Given the description of an element on the screen output the (x, y) to click on. 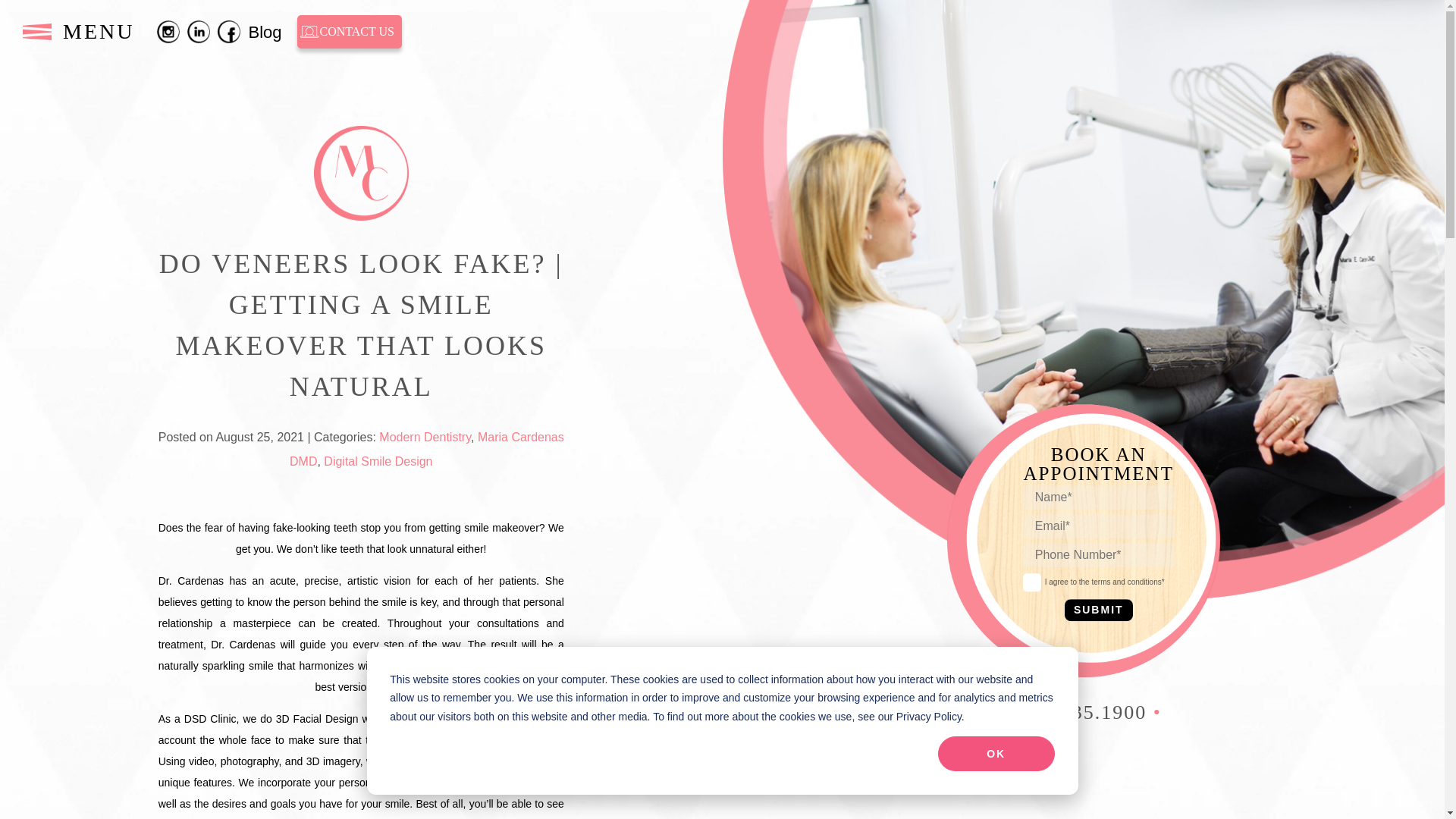
SUBMIT (1098, 609)
true (1032, 582)
CONTACT US (349, 31)
SUBMIT (1098, 609)
Blog (264, 31)
MENU (78, 31)
781.235.1900 (1083, 711)
Book Appointment (722, 510)
